Given the description of an element on the screen output the (x, y) to click on. 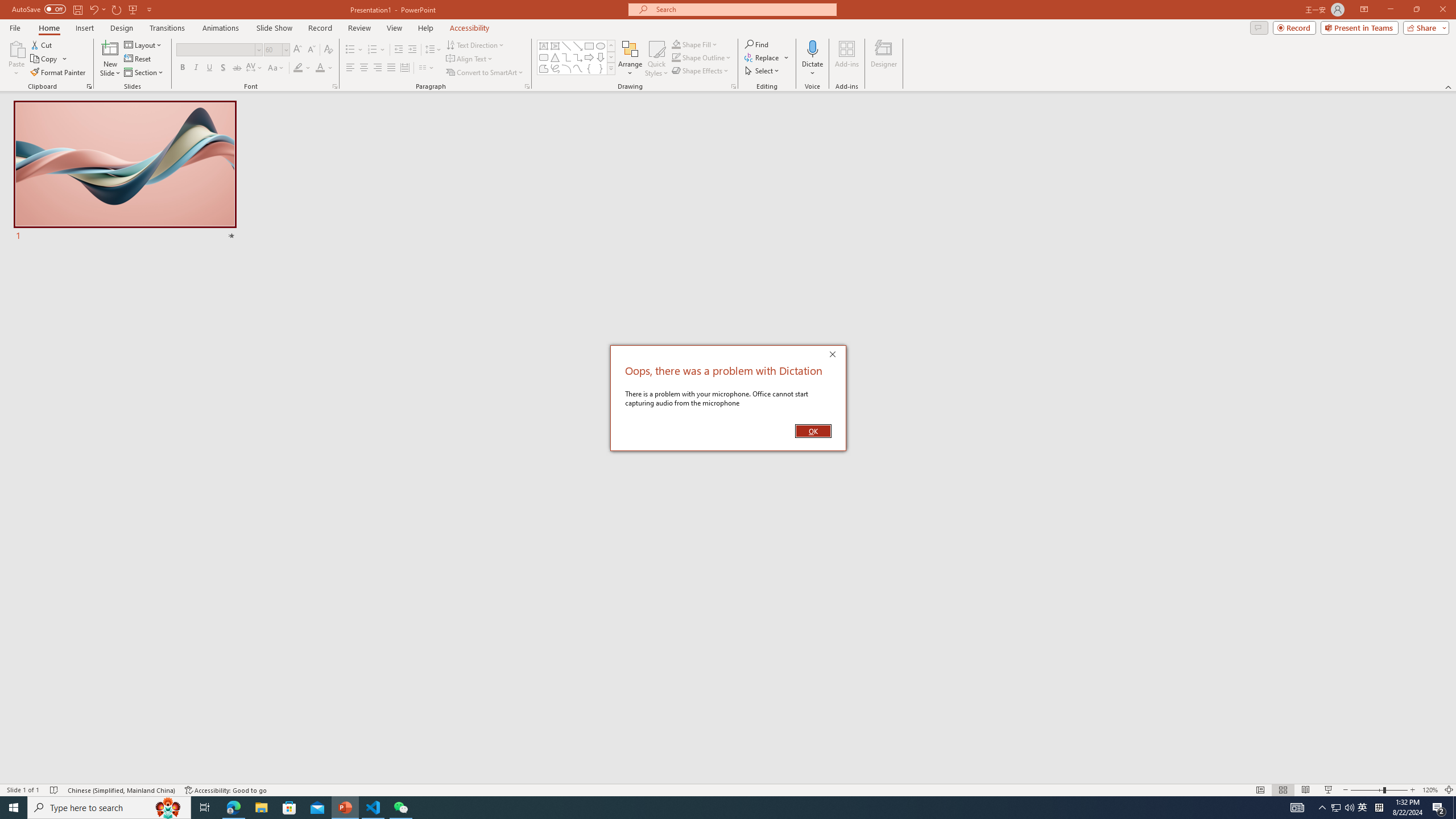
User Promoted Notification Area (1342, 807)
Arc (566, 68)
Type here to search (108, 807)
Microsoft Store (289, 807)
Right Brace (600, 68)
